Given the description of an element on the screen output the (x, y) to click on. 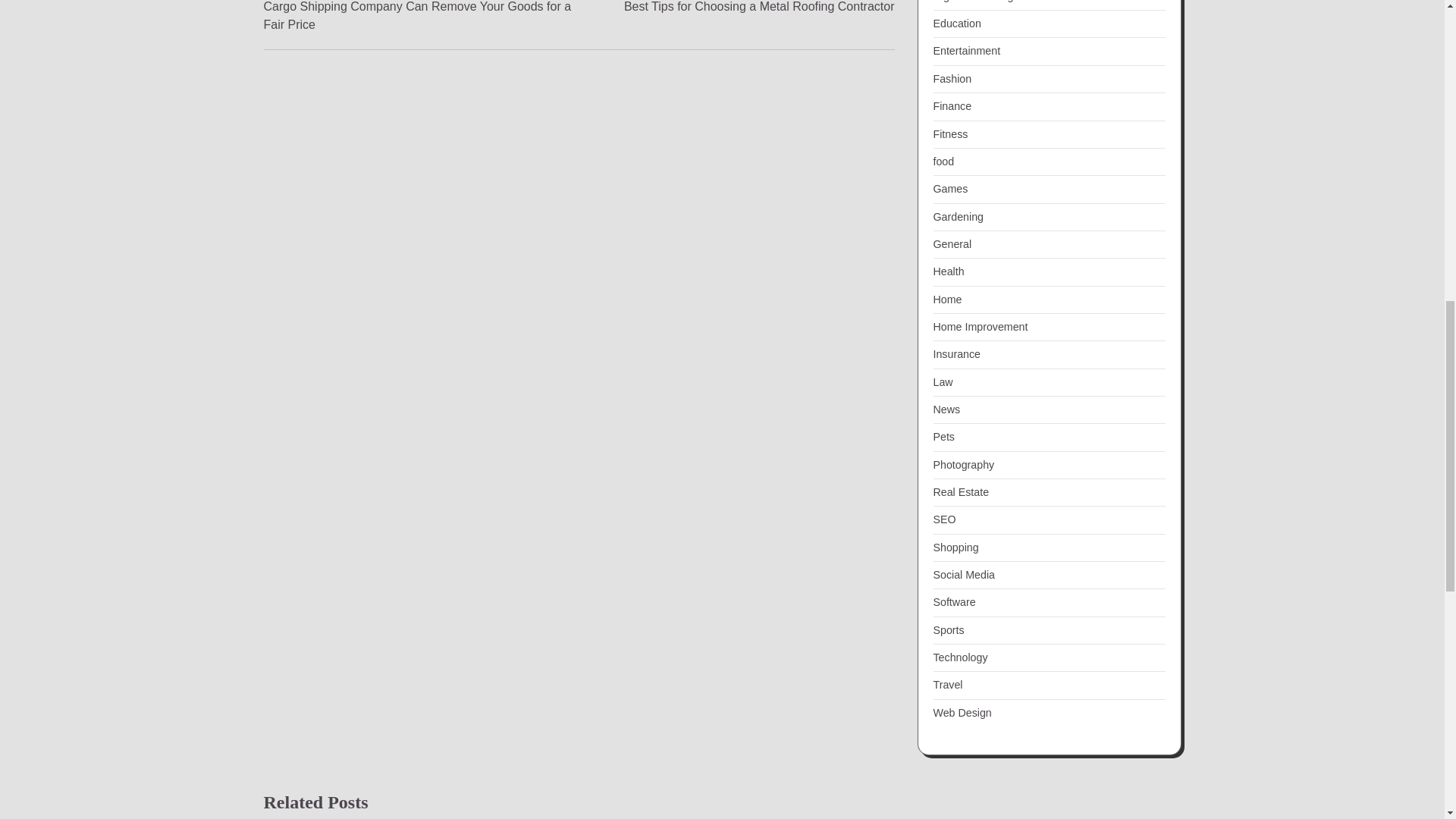
Finance (952, 105)
General (952, 244)
Digital Marketing (973, 1)
Home Improvement (980, 326)
Fashion (952, 78)
News (946, 409)
Home (946, 299)
Gardening (957, 216)
food (759, 7)
Fitness (943, 161)
Insurance (950, 133)
Education (956, 354)
Law (956, 23)
